Given the description of an element on the screen output the (x, y) to click on. 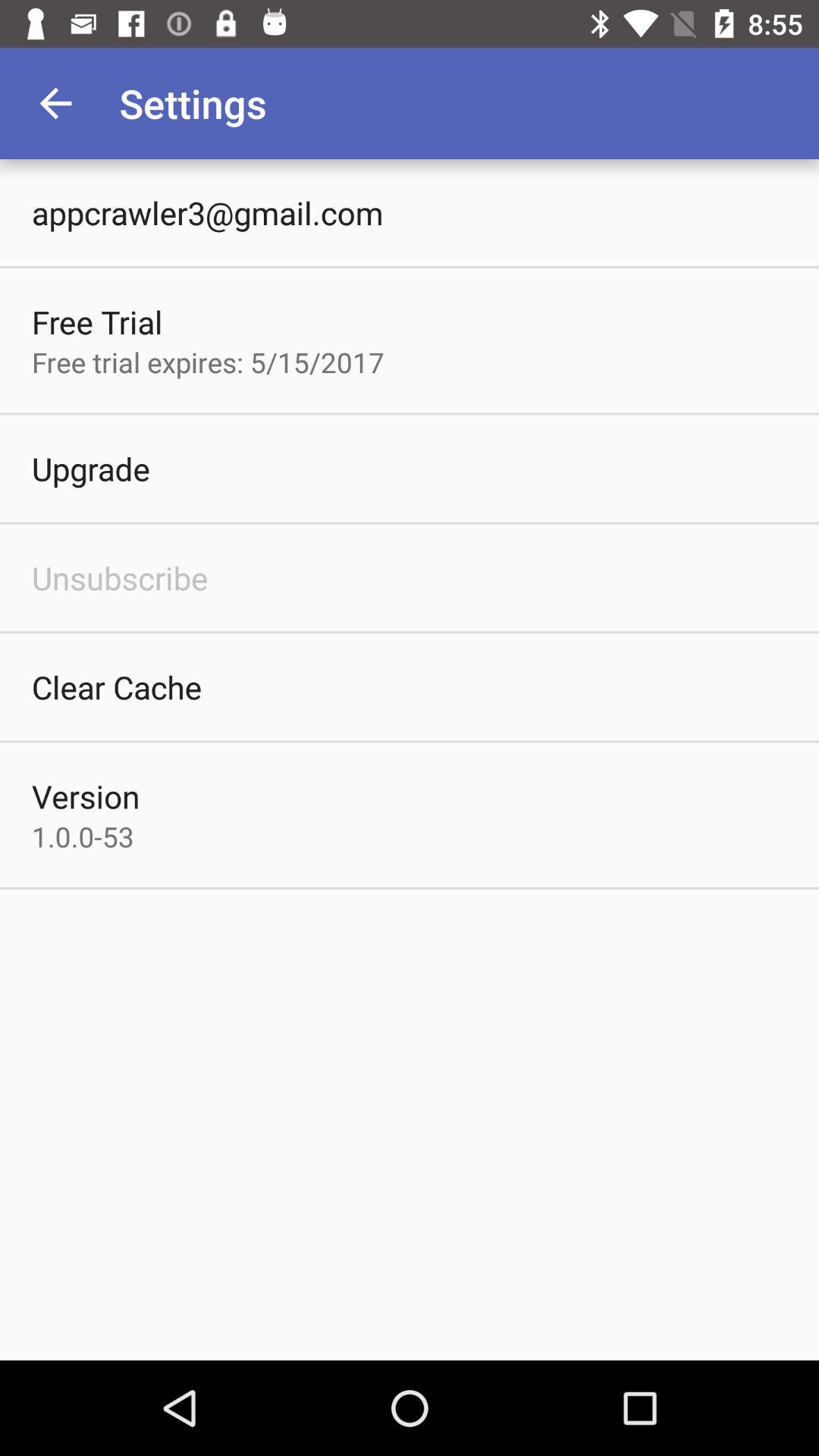
select item above 1 0 0 item (85, 795)
